Given the description of an element on the screen output the (x, y) to click on. 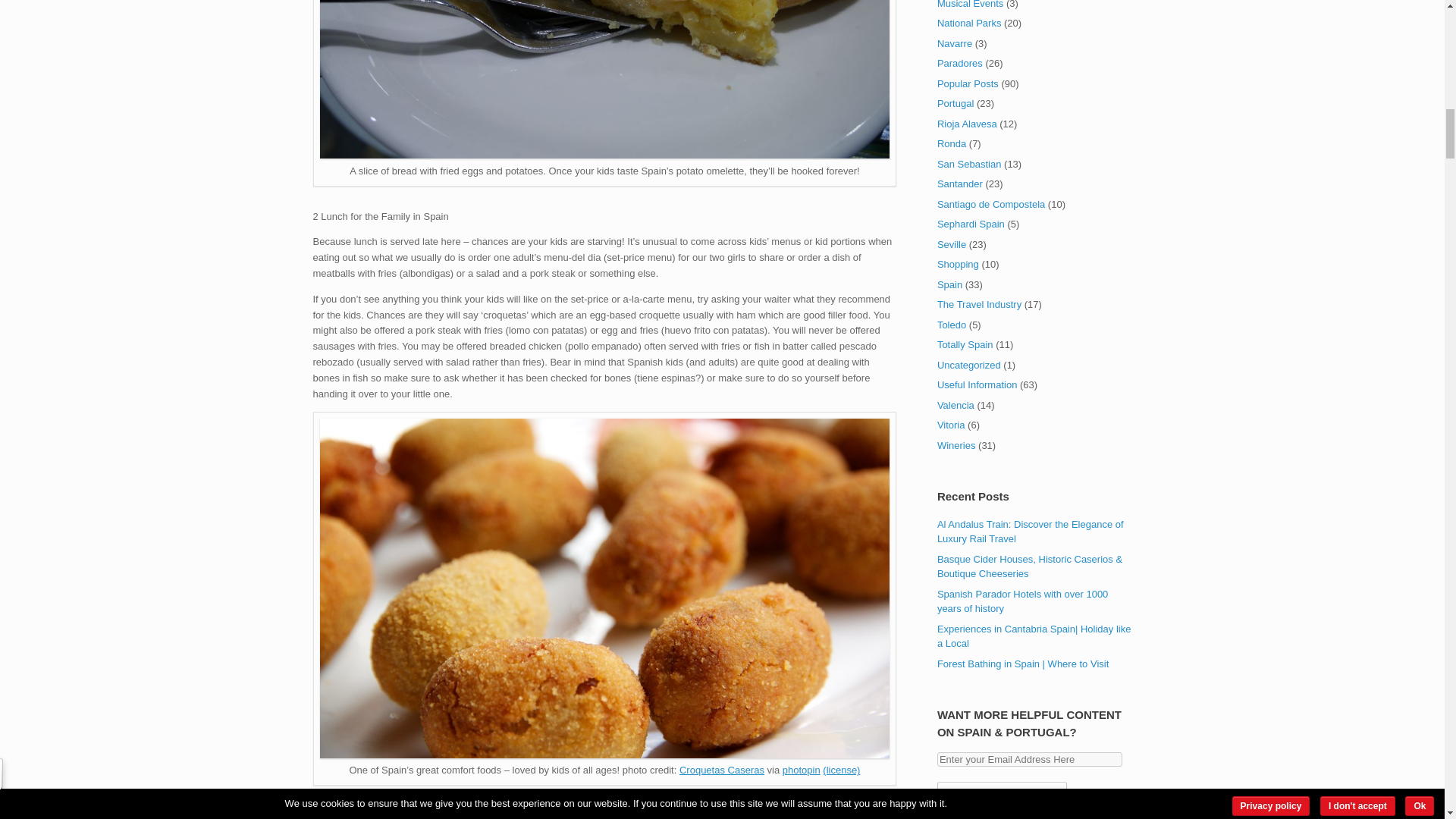
Give Me Great Content (1002, 796)
photopin (802, 769)
Croquetas Caseras (721, 769)
